Given the description of an element on the screen output the (x, y) to click on. 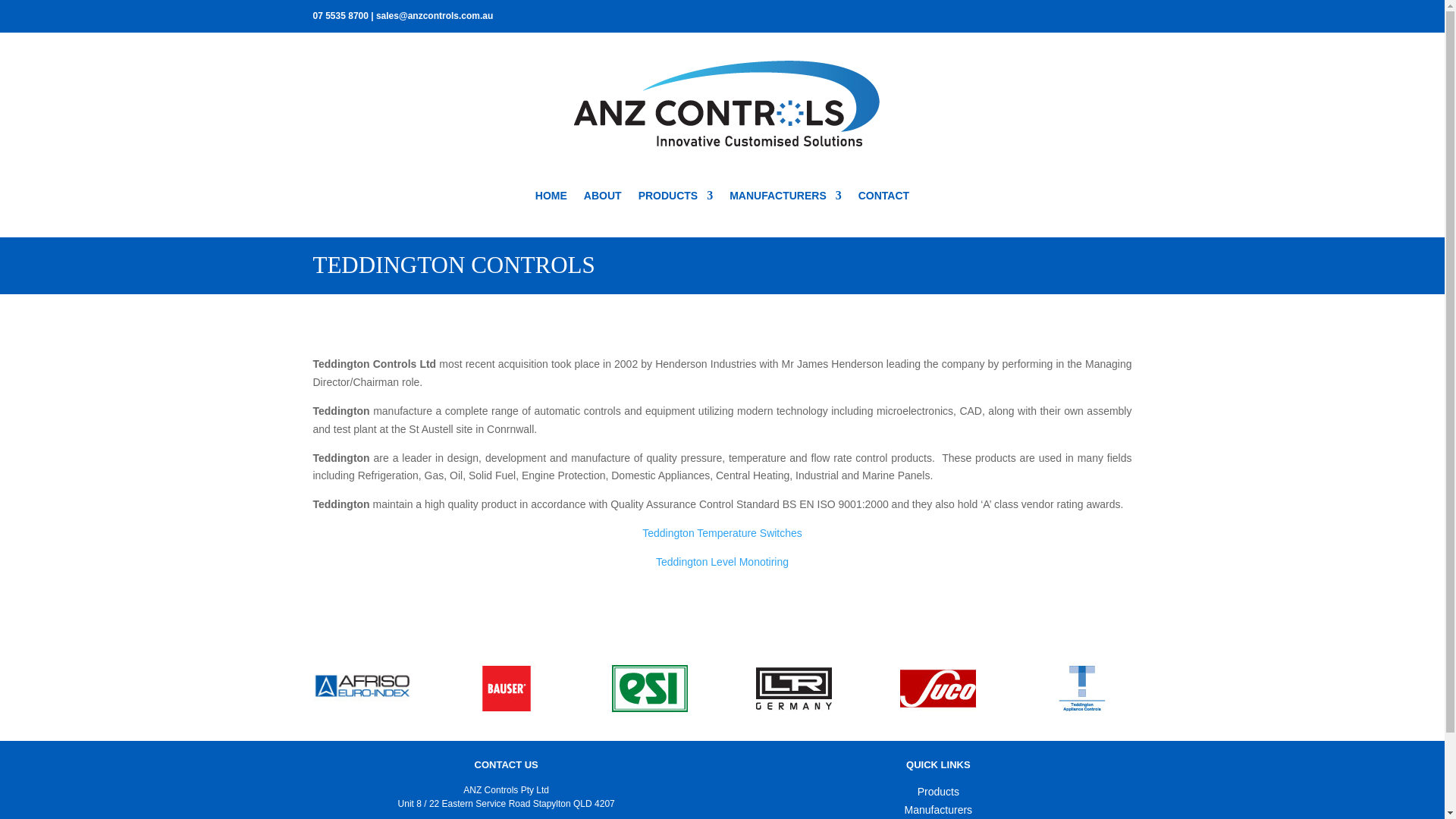
Teddington Level Monitoring (722, 562)
ANZ Controls Logo (722, 104)
ABOUT (602, 198)
Teddington Temperature Switches (722, 532)
HOME (551, 198)
PRODUCTS (676, 198)
